Given the description of an element on the screen output the (x, y) to click on. 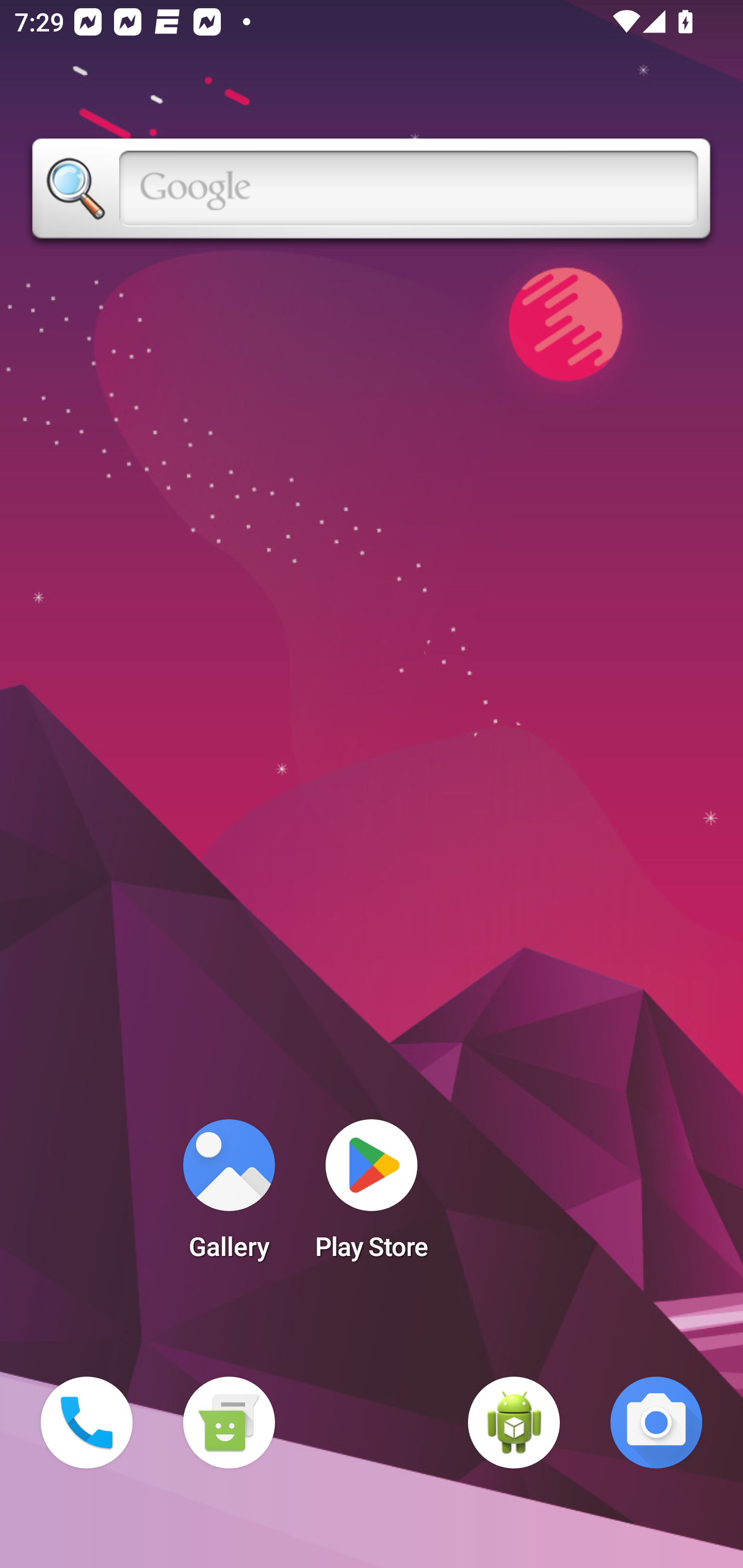
Gallery (228, 1195)
Play Store (371, 1195)
Phone (86, 1422)
Messaging (228, 1422)
WebView Browser Tester (513, 1422)
Camera (656, 1422)
